Given the description of an element on the screen output the (x, y) to click on. 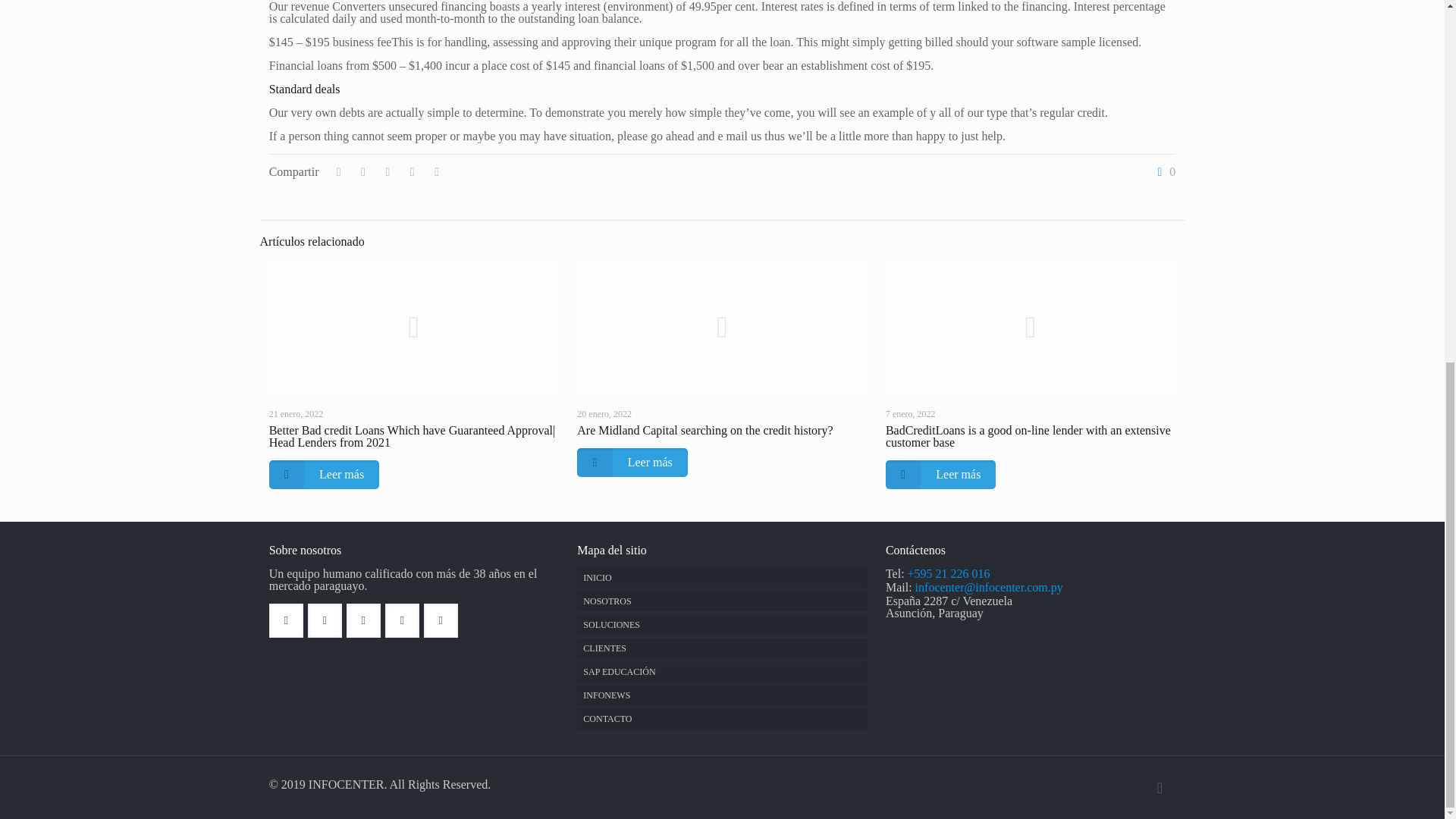
INICIO (721, 578)
Are Midland Capital searching on the credit history? (704, 430)
0 (1162, 172)
